Given the description of an element on the screen output the (x, y) to click on. 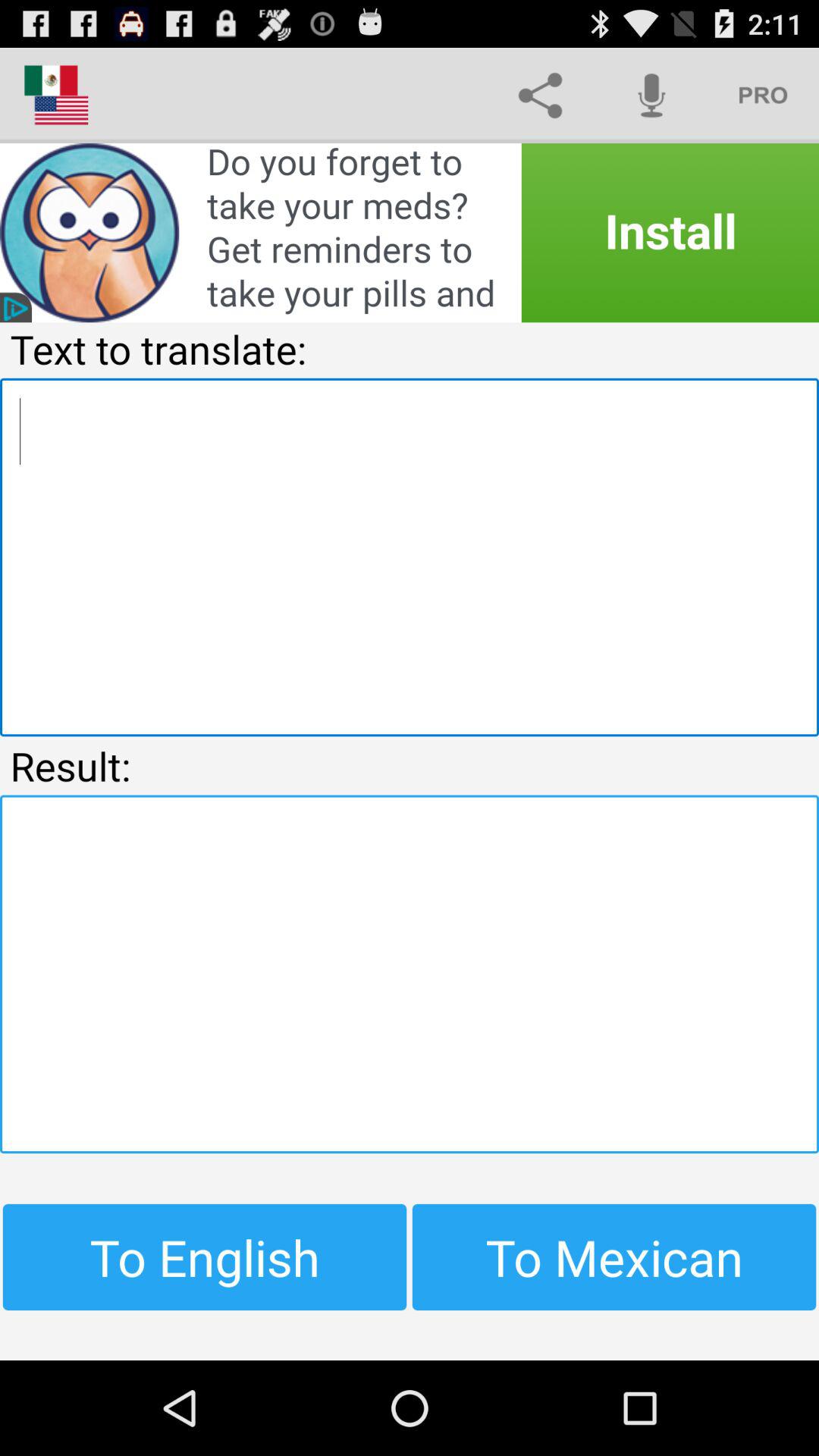
go to advertisement link (409, 232)
